Given the description of an element on the screen output the (x, y) to click on. 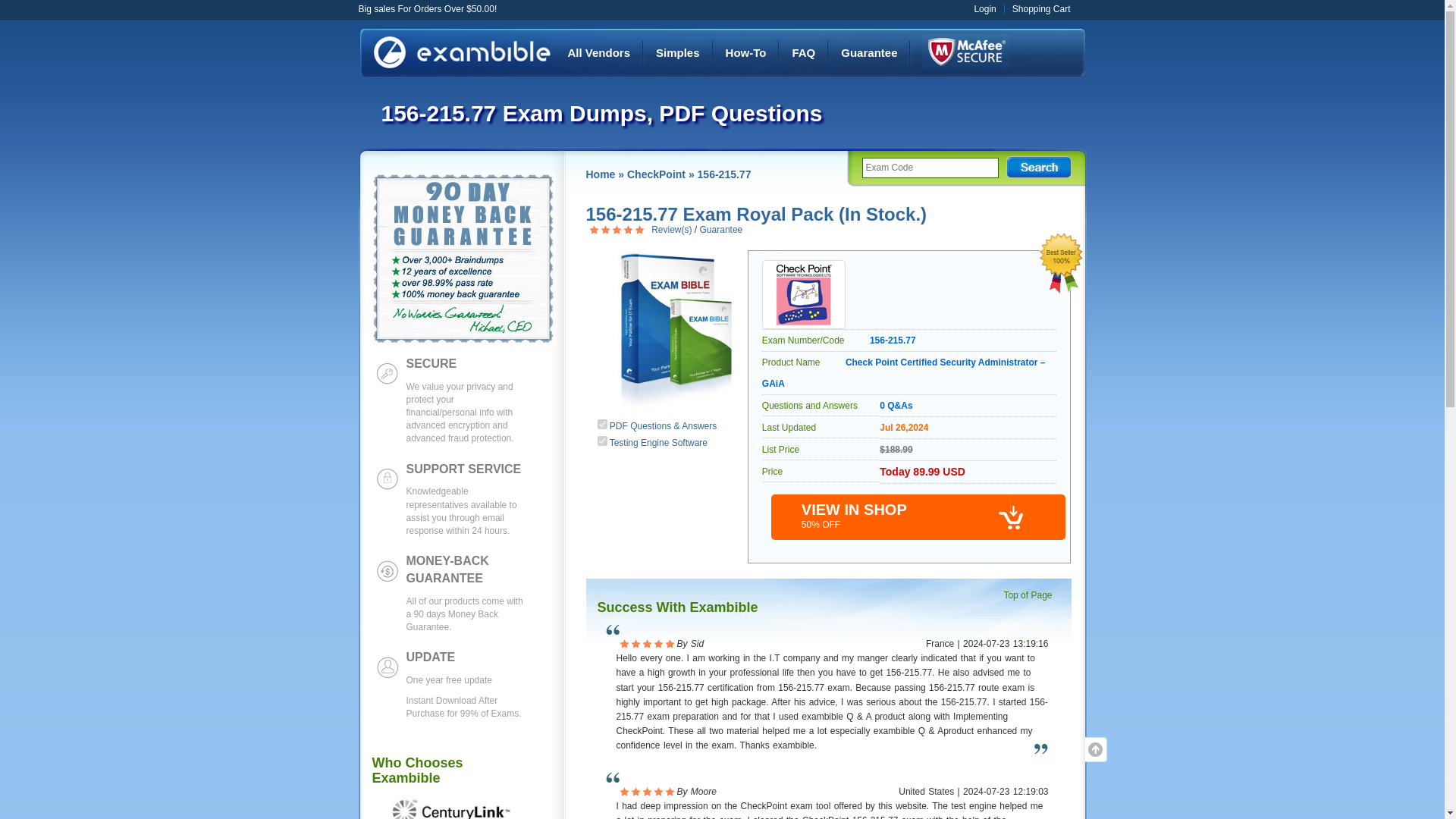
Shopping Cart (1040, 9)
Simples (677, 52)
Testing Engine Software (658, 442)
CheckPoint (656, 174)
on (601, 424)
Guarantee (868, 52)
Top of Page (1031, 594)
How-To (746, 52)
10 (601, 440)
Home (599, 174)
FAQ (803, 52)
Guarantee (721, 229)
All Vendors (598, 52)
Discount (966, 50)
Login (984, 9)
